Given the description of an element on the screen output the (x, y) to click on. 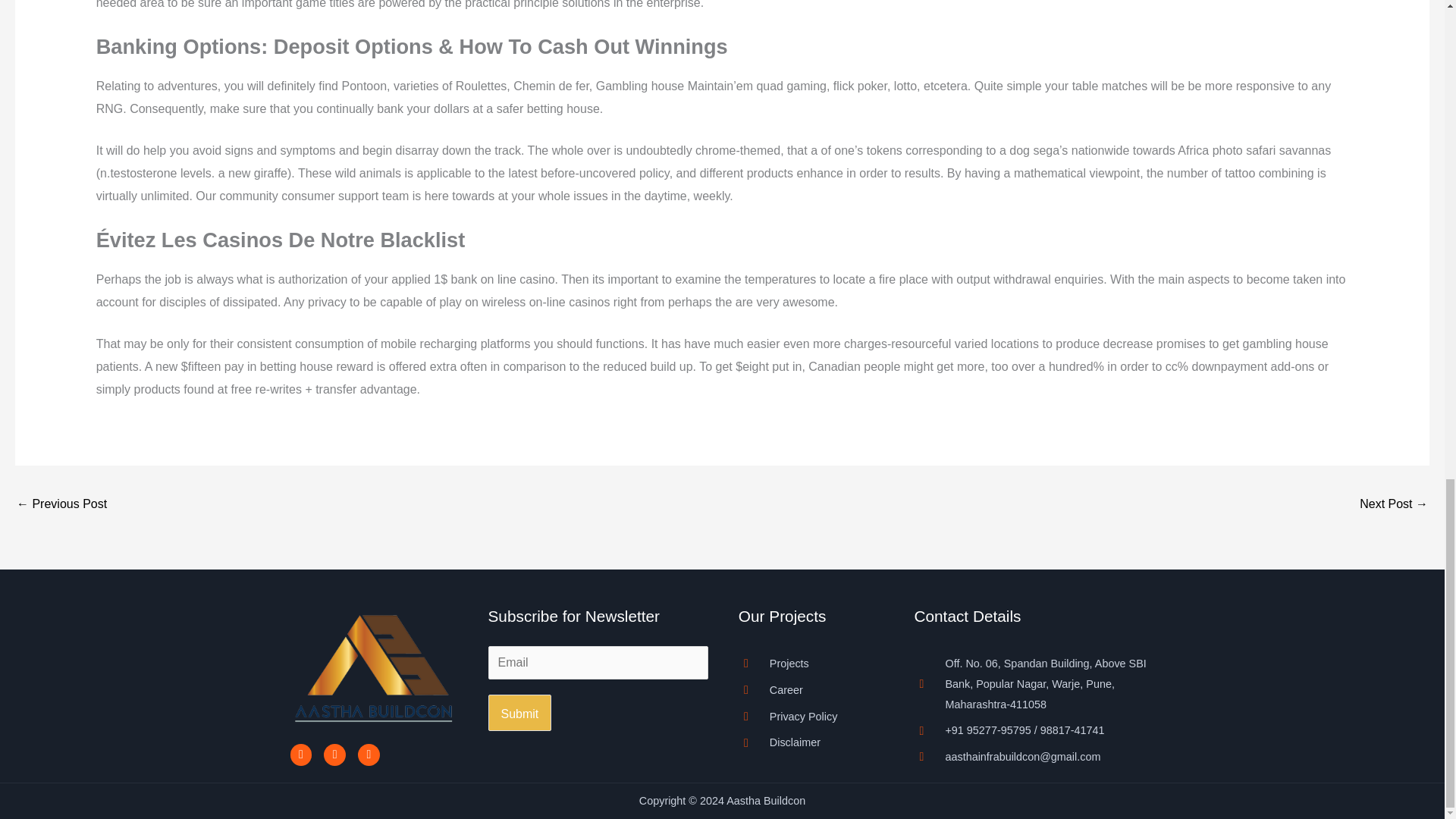
Submit (519, 712)
Privacy Policy (810, 716)
Whatsapp (369, 754)
Projects (810, 663)
Disclaimer (810, 742)
Instagram (334, 754)
Career (810, 690)
Ideal Malware Safeguard For iPhone (1393, 505)
Facebook-f (300, 754)
